Given the description of an element on the screen output the (x, y) to click on. 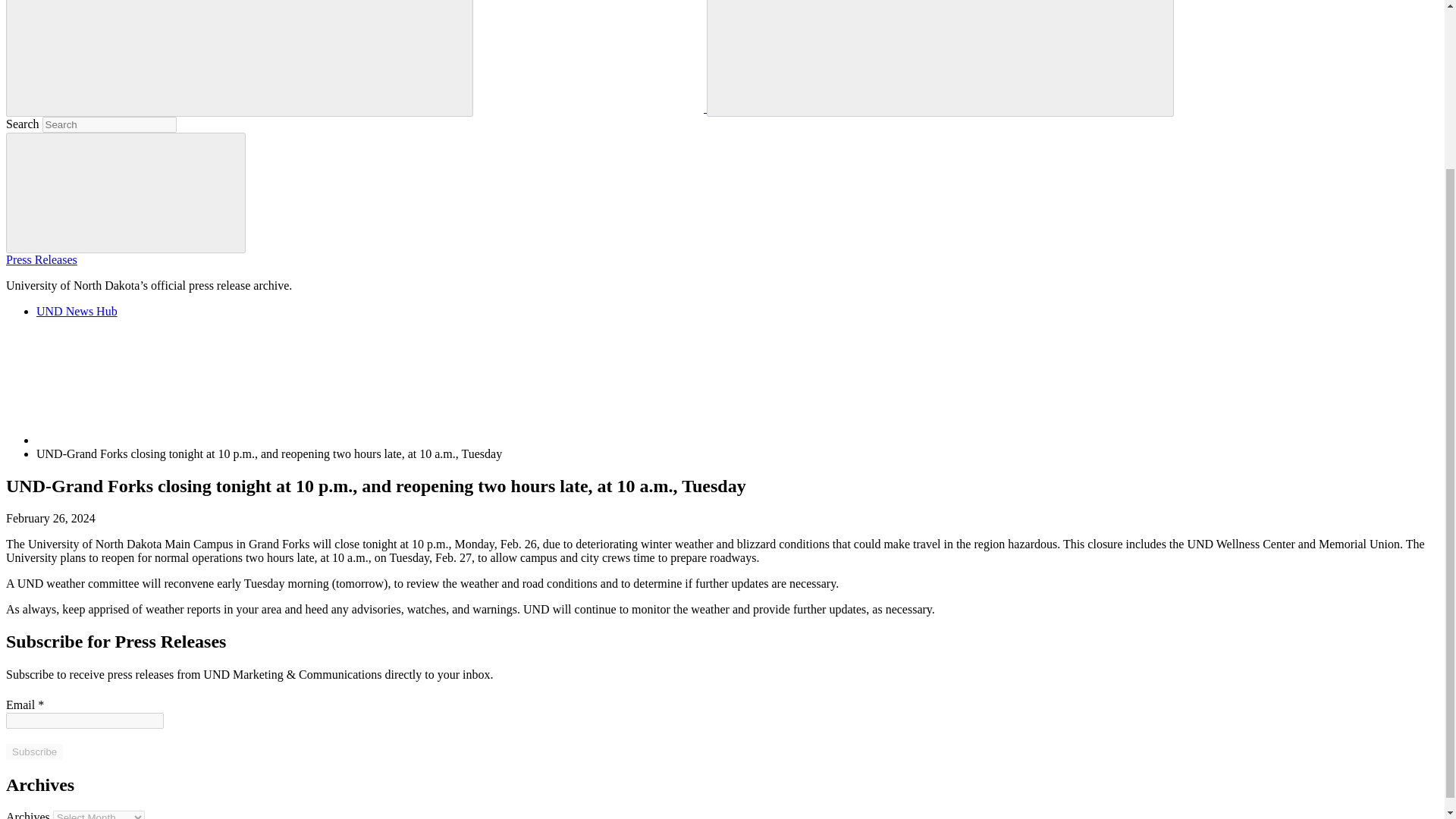
Subscribe (33, 751)
Home (149, 387)
Submit (125, 192)
Open MenuClose Menu (239, 58)
UND News Hub (76, 310)
Press Releases (41, 259)
Open Search (826, 56)
University of North Dakota (589, 56)
University of North Dakota (591, 107)
Close Search (1053, 56)
Close Menu (353, 56)
Open Menu (125, 56)
Home (149, 440)
Submit (125, 191)
Email (84, 720)
